Given the description of an element on the screen output the (x, y) to click on. 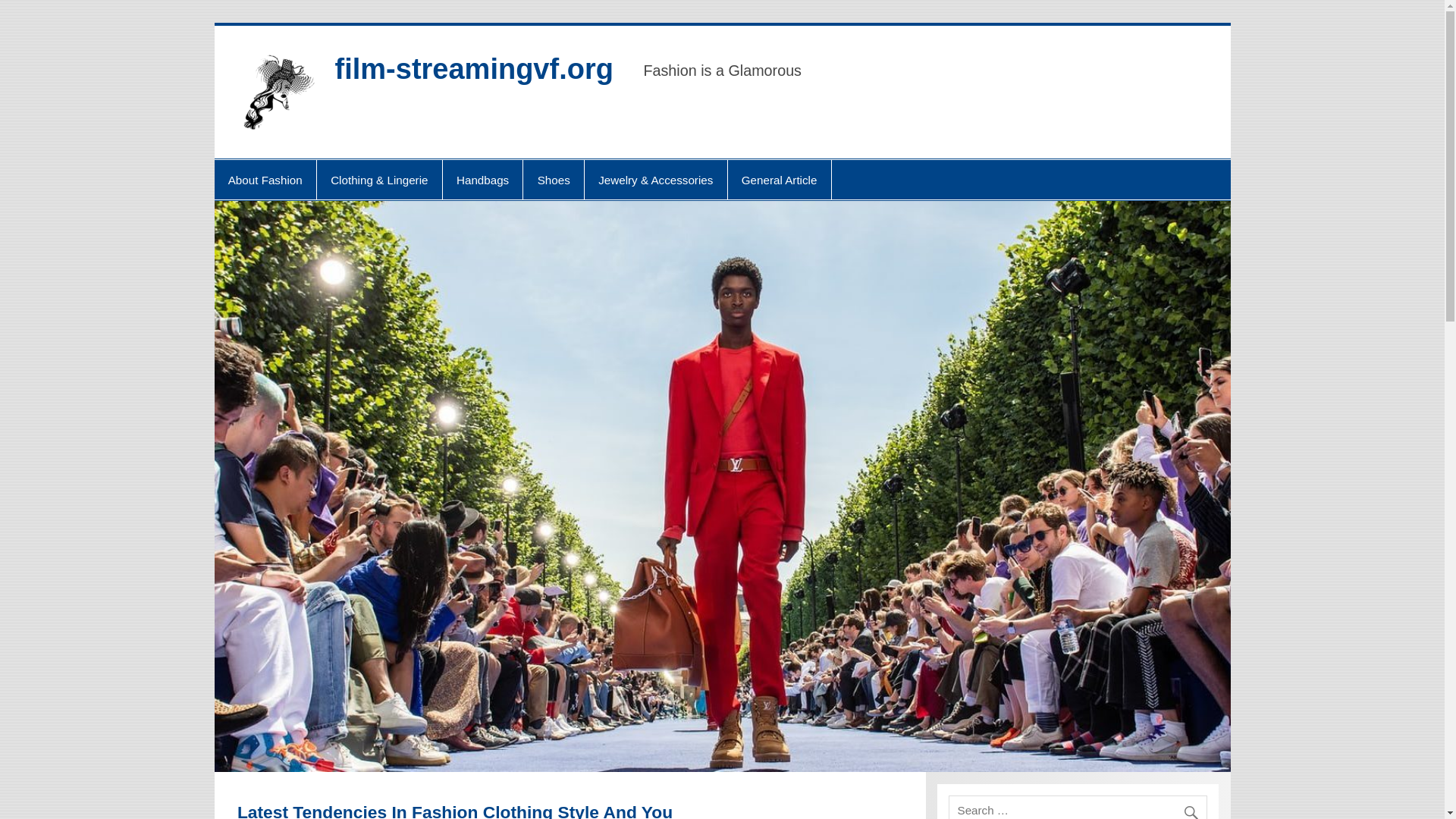
About Fashion (264, 179)
film-streamingvf.org (473, 69)
Handbags (482, 179)
Shoes (552, 179)
General Article (779, 179)
